Given the description of an element on the screen output the (x, y) to click on. 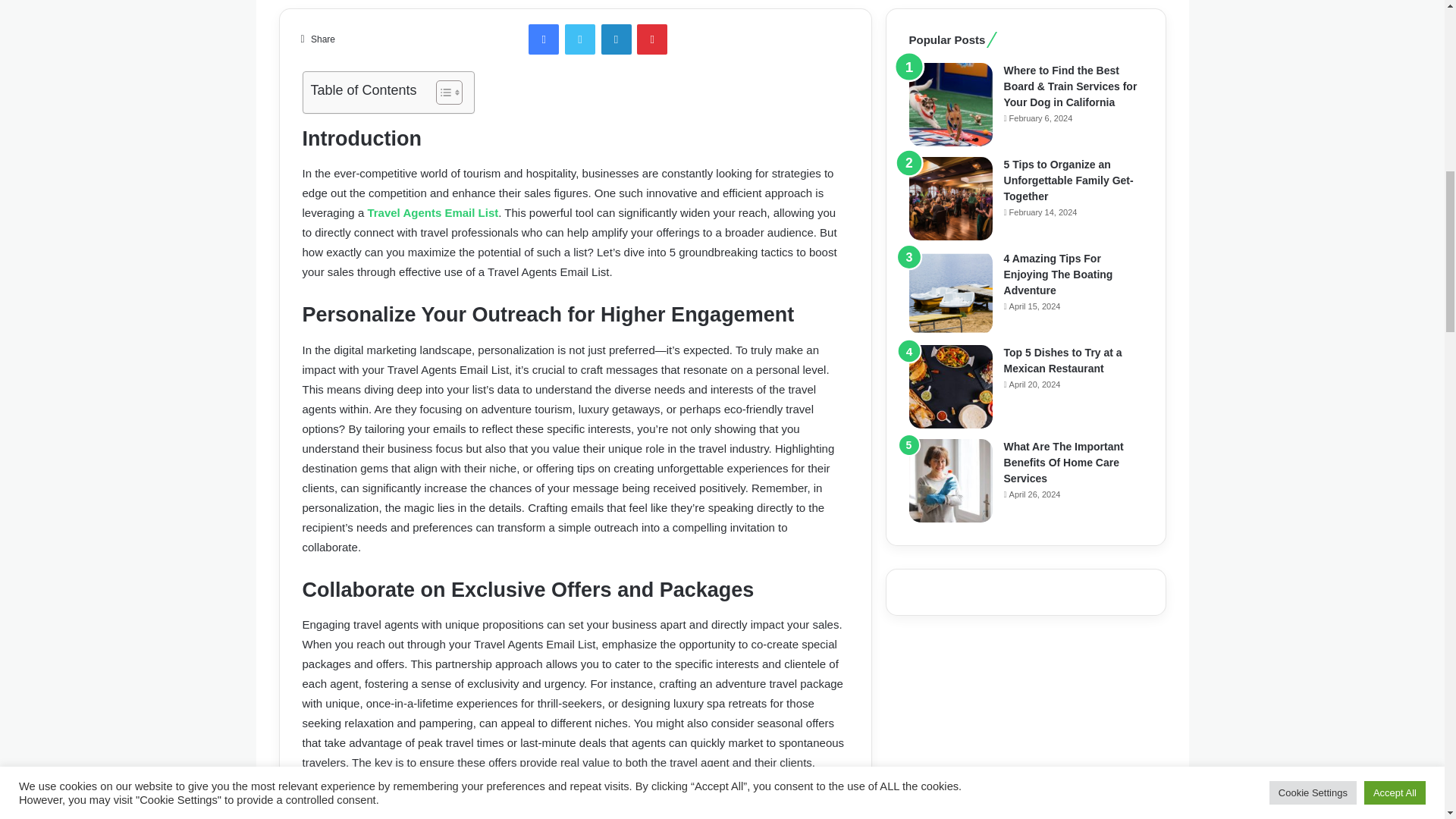
Pinterest (651, 39)
Twitter (579, 39)
LinkedIn (616, 39)
Facebook (543, 39)
